Given the description of an element on the screen output the (x, y) to click on. 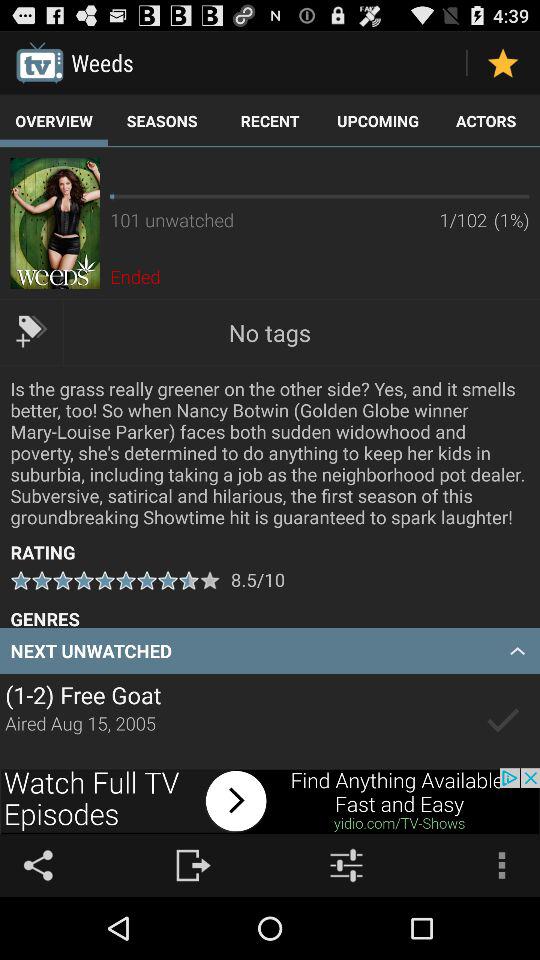
favorite (502, 62)
